Given the description of an element on the screen output the (x, y) to click on. 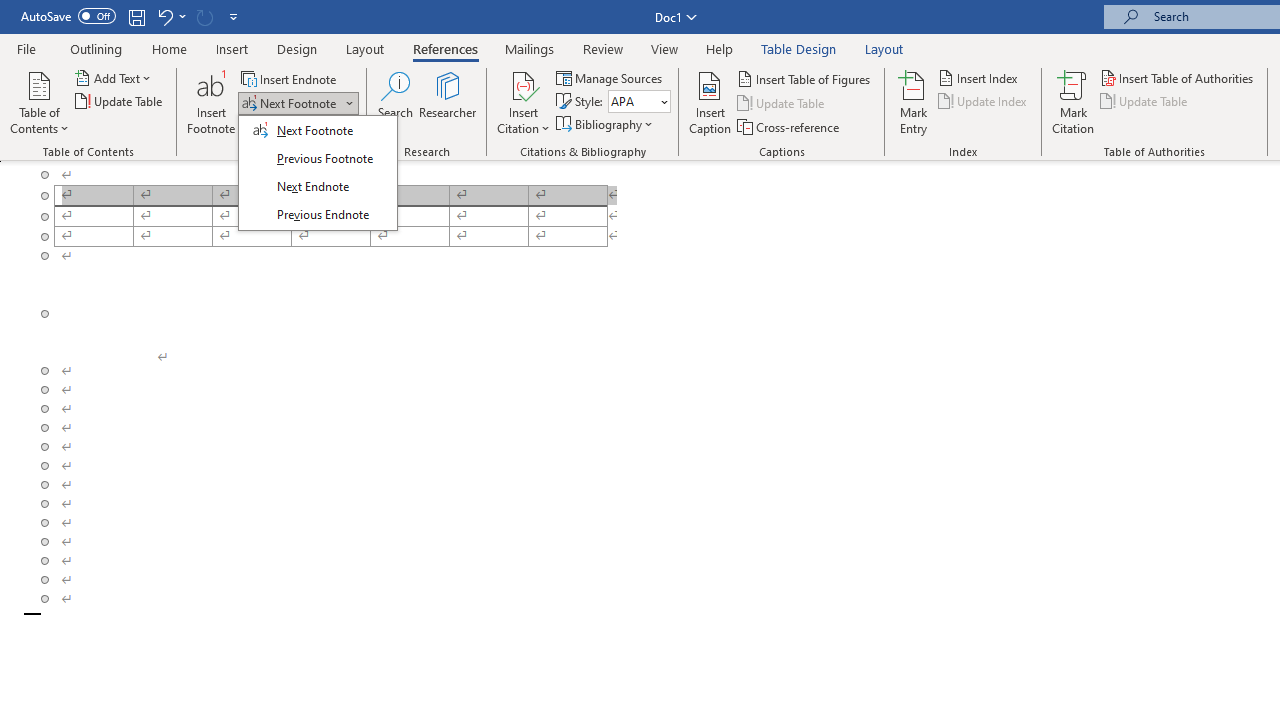
Insert Table of Authorities... (1177, 78)
Undo Outline Move Up (170, 15)
Update Table (1145, 101)
Cross-reference... (789, 126)
&Next Footnote (318, 173)
Insert Index... (979, 78)
Insert Footnote (211, 102)
